Given the description of an element on the screen output the (x, y) to click on. 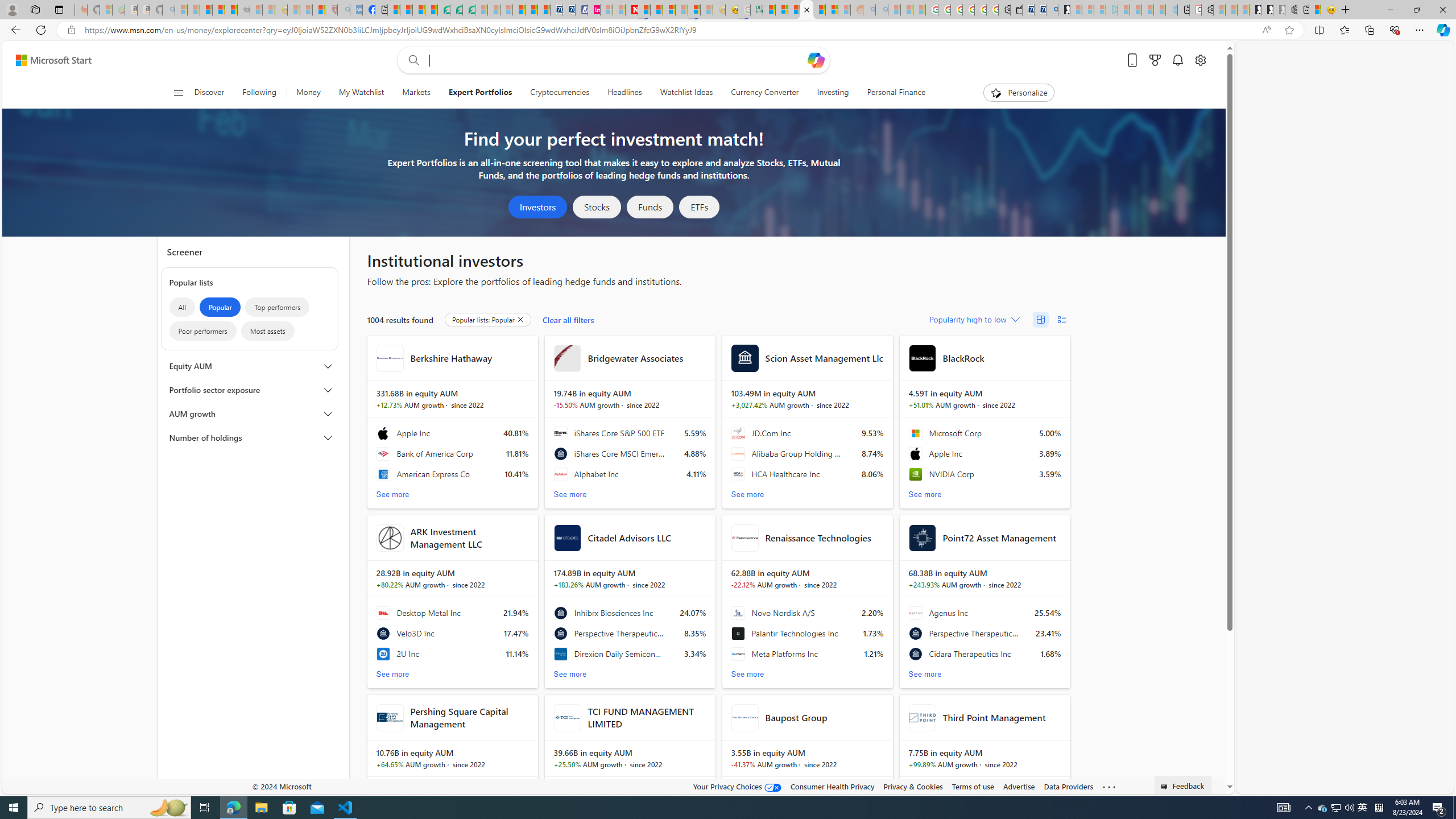
Currency Converter (765, 92)
Cryptocurrencies (559, 92)
Data Providers (1068, 785)
List View (1062, 319)
